Given the description of an element on the screen output the (x, y) to click on. 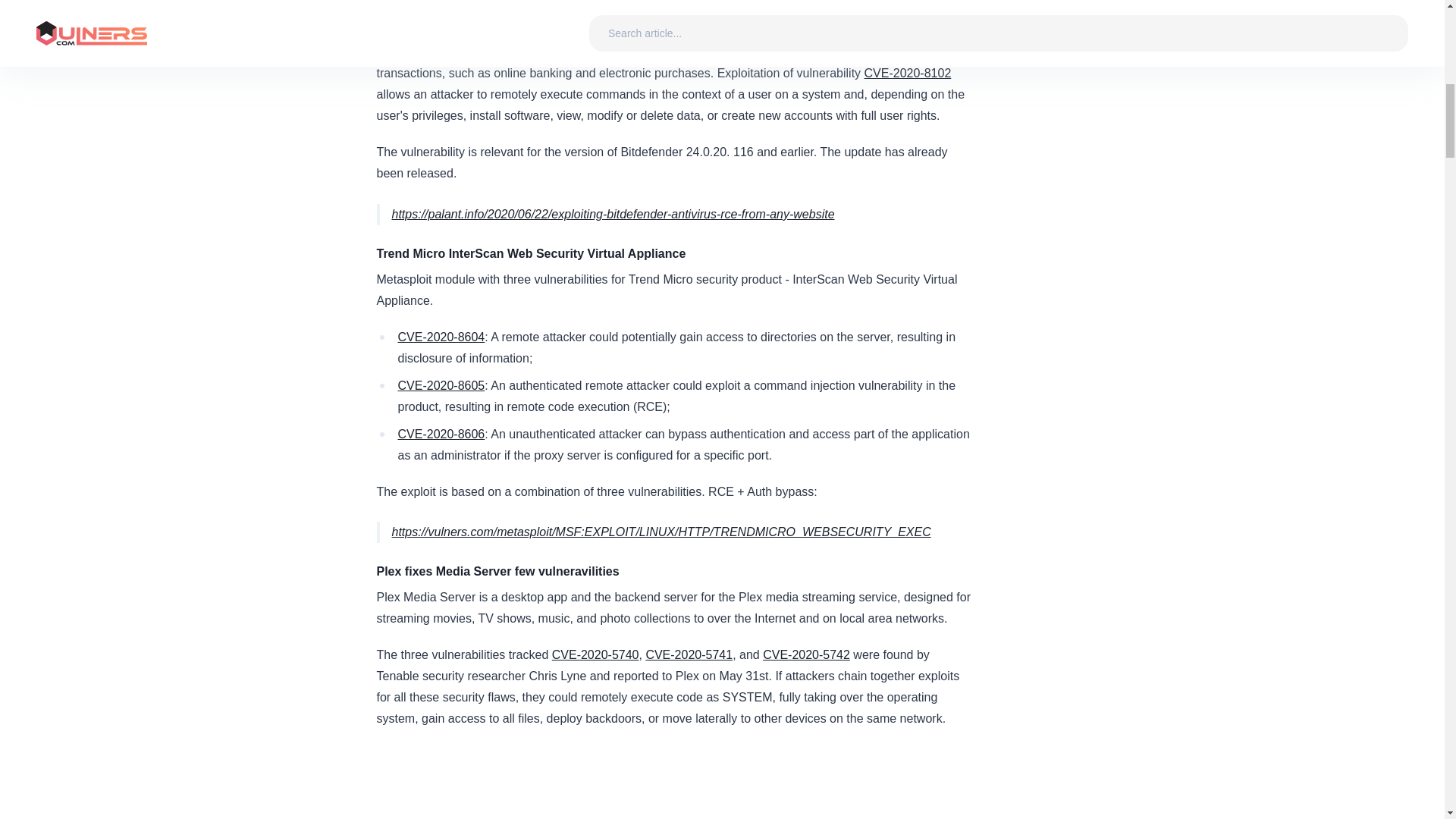
CVE-2020-8604 (440, 336)
CVE-2020-8606 (440, 433)
CVE-2020-8102 (908, 72)
CVE-2020-5740 (595, 654)
Embedded YouTube video (674, 781)
CVE-2020-8605 (440, 385)
CVE-2020-5742 (806, 654)
CVE-2020-5741 (688, 654)
